Given the description of an element on the screen output the (x, y) to click on. 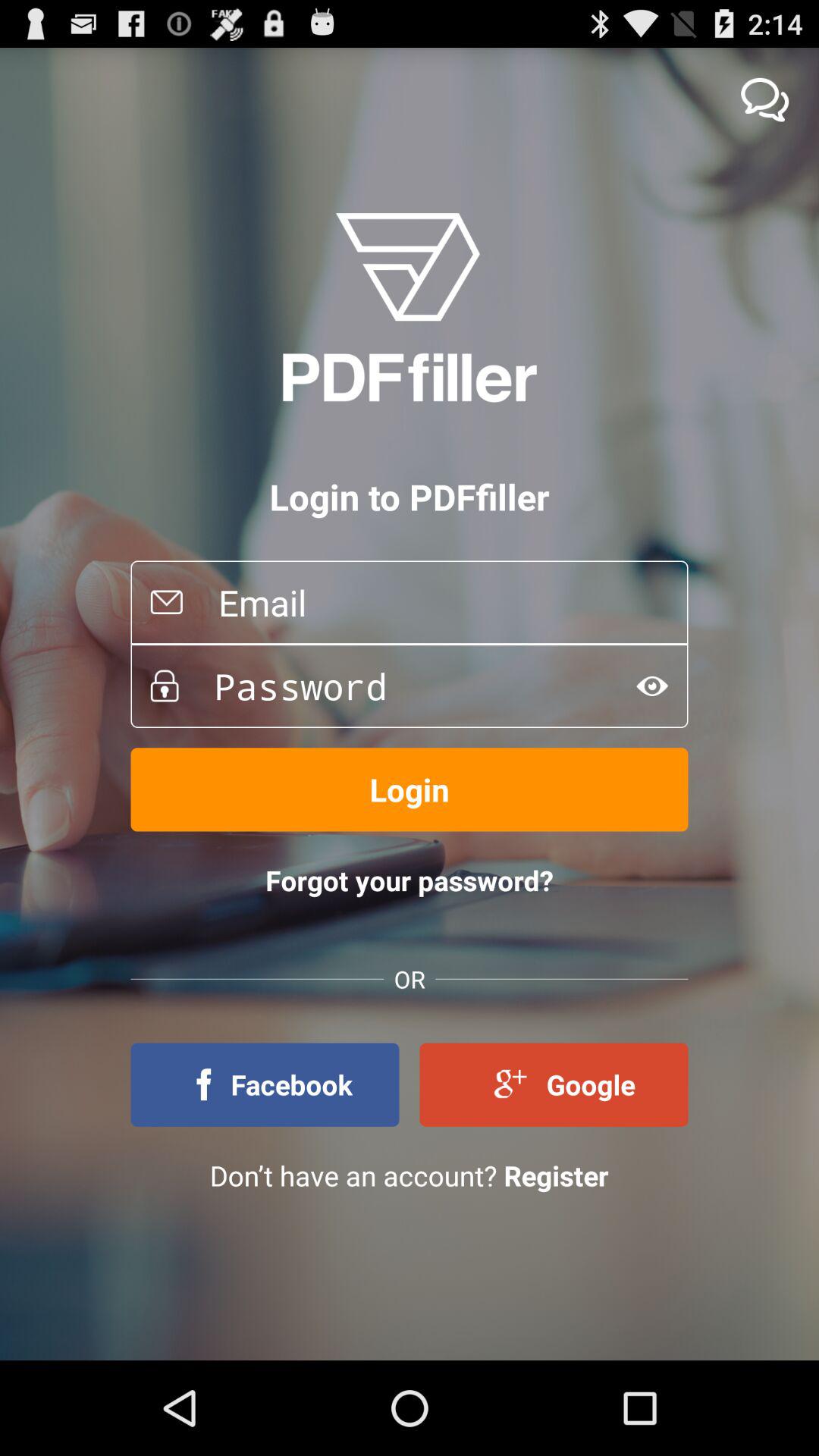
for vesion (652, 686)
